Given the description of an element on the screen output the (x, y) to click on. 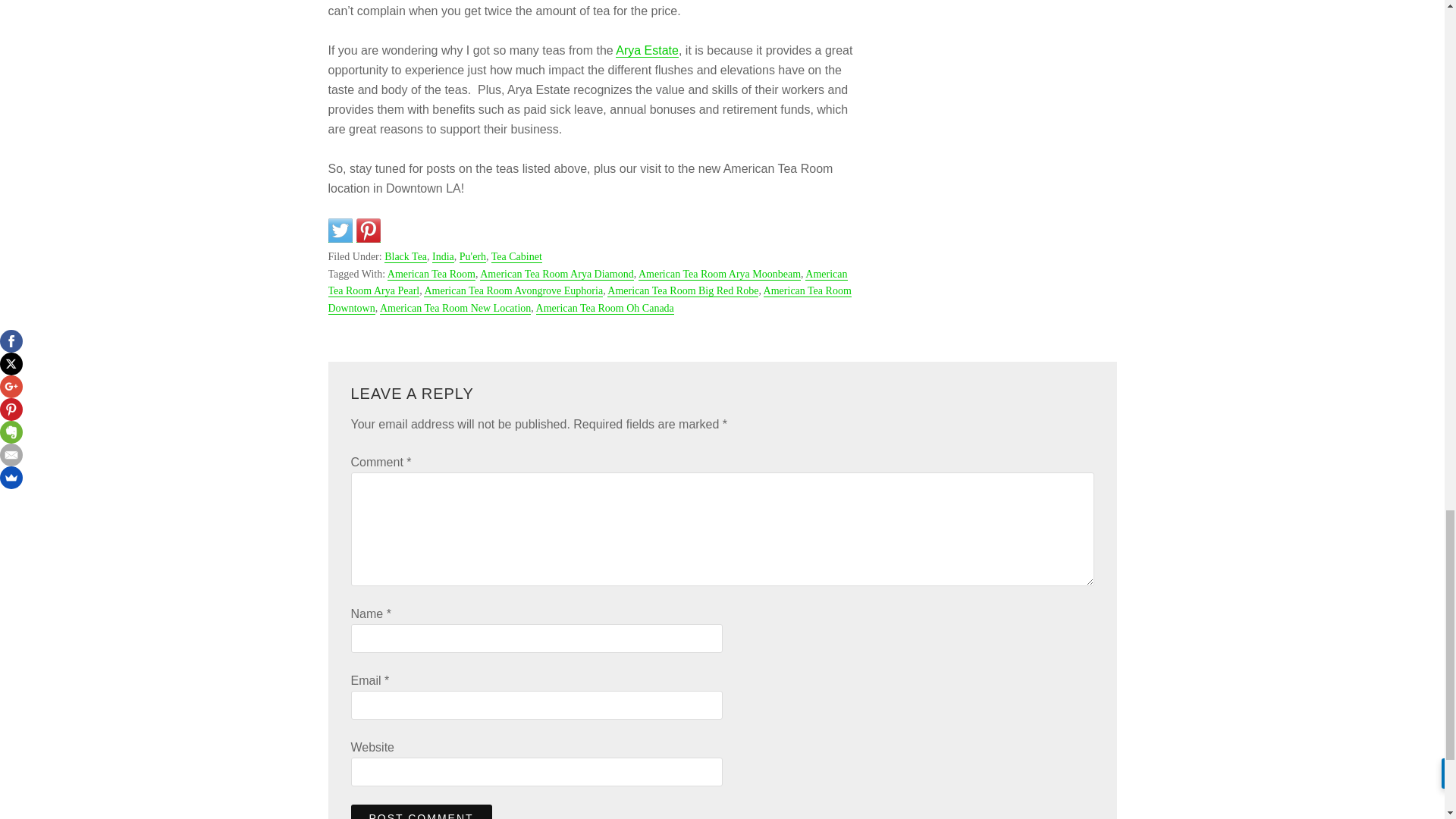
Follow us on Twitter (339, 230)
American Tea Room Oh Canada (604, 308)
Arya Estate (646, 50)
American Tea Room Big Red Robe (682, 291)
Pu'erh (473, 256)
Tea Cabinet (516, 256)
American Tea Room Downtown (588, 299)
American Tea Room Arya Diamond (556, 274)
Post Comment (421, 811)
Our board on Pinterest (368, 230)
India (443, 256)
Black Tea (405, 256)
American Tea Room Arya Pearl (587, 283)
American Tea Room Arya Moonbeam (719, 274)
American Tea Room (431, 274)
